Given the description of an element on the screen output the (x, y) to click on. 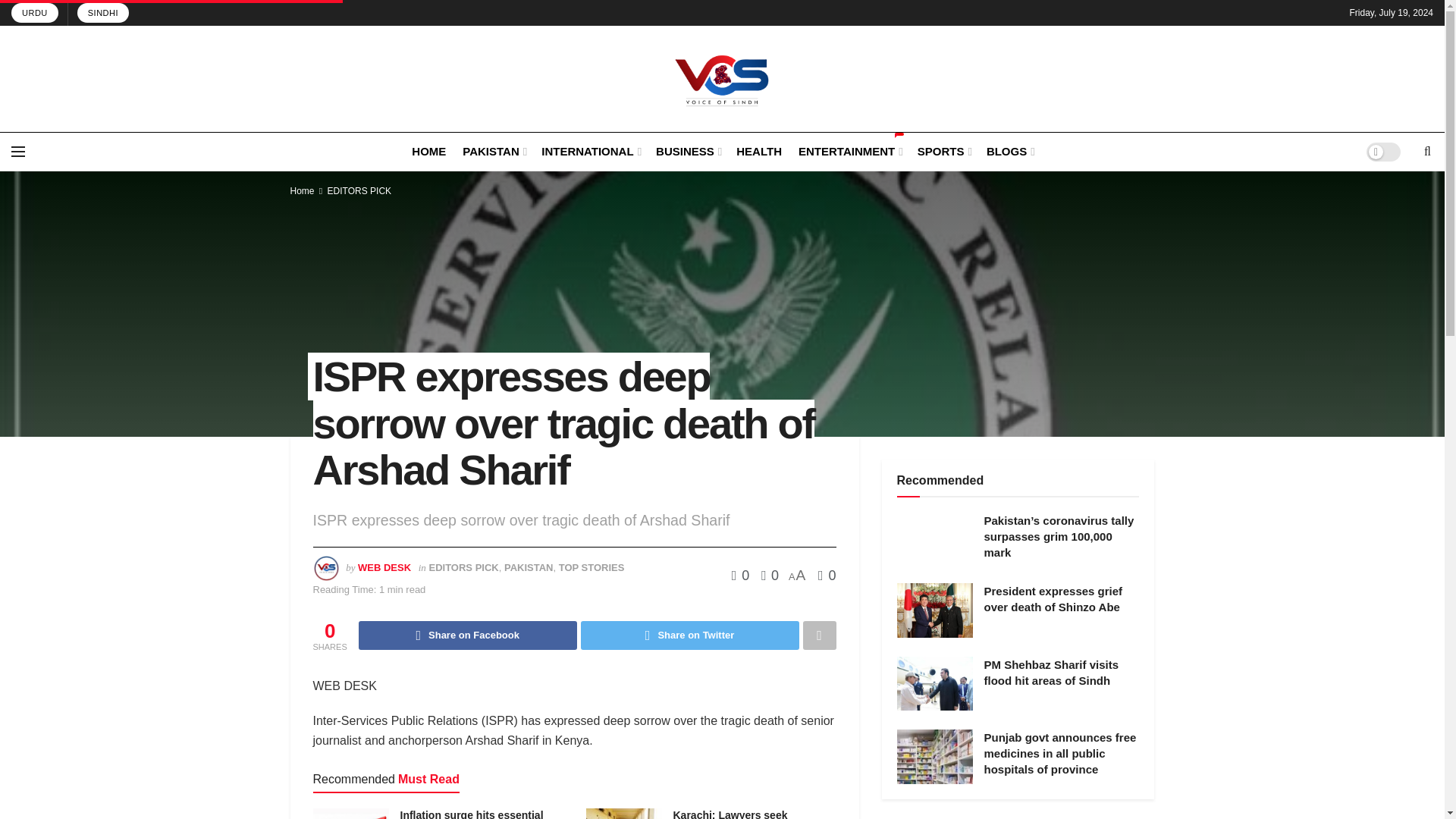
SINDHI (103, 12)
URDU (34, 12)
BUSINESS (687, 151)
PAKISTAN (493, 151)
INTERNATIONAL (590, 151)
HOME (428, 151)
